Given the description of an element on the screen output the (x, y) to click on. 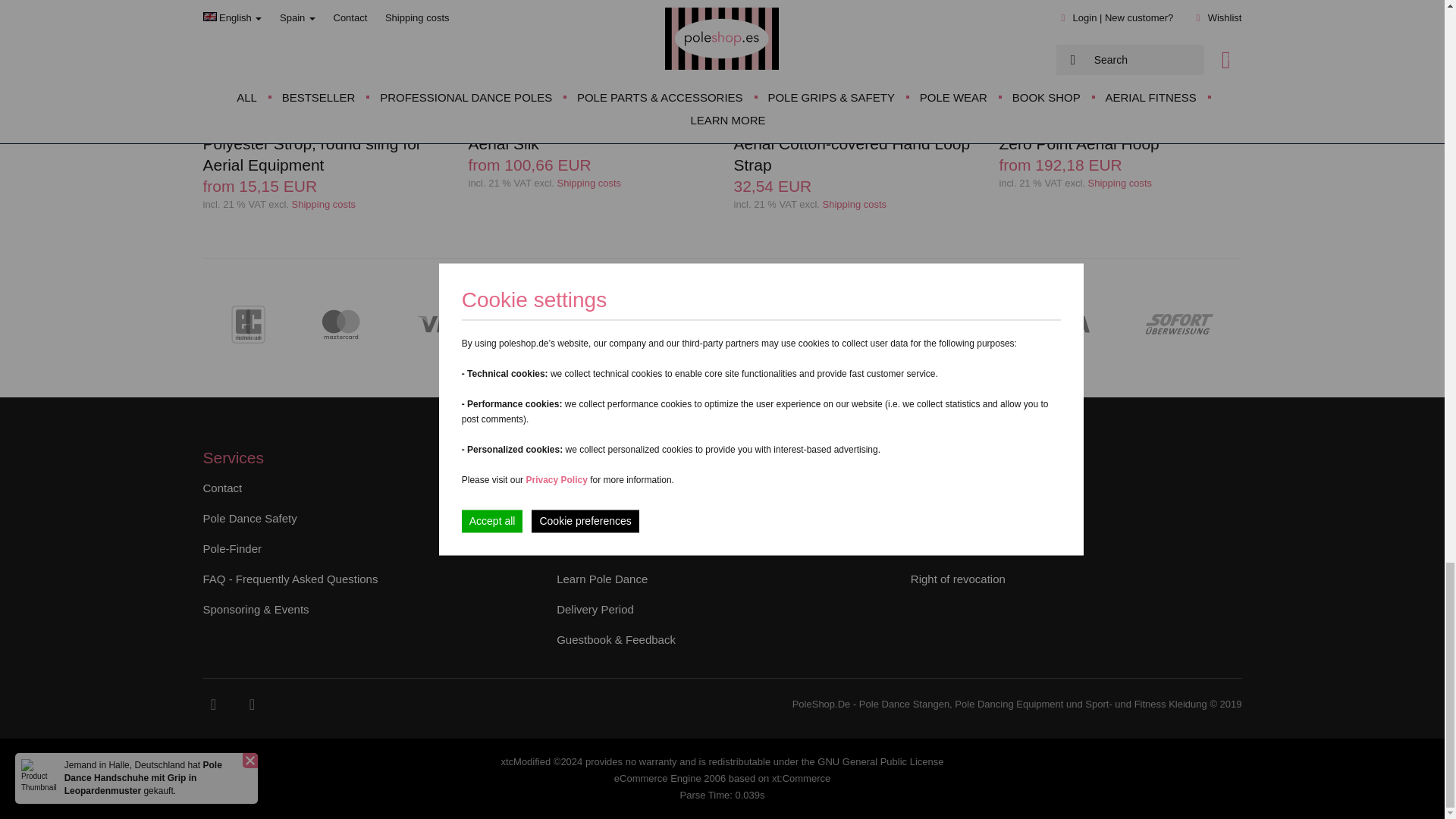
Information (854, 204)
Aerial Silk (589, 88)
Information (324, 204)
Polyester Strop, round sling for Aerial Equipment (324, 98)
Zero Point Aerial Hoop (1119, 88)
Aerial Cotton-covered Hand Loop Strap (854, 98)
Information (1120, 183)
Information (589, 183)
